Given the description of an element on the screen output the (x, y) to click on. 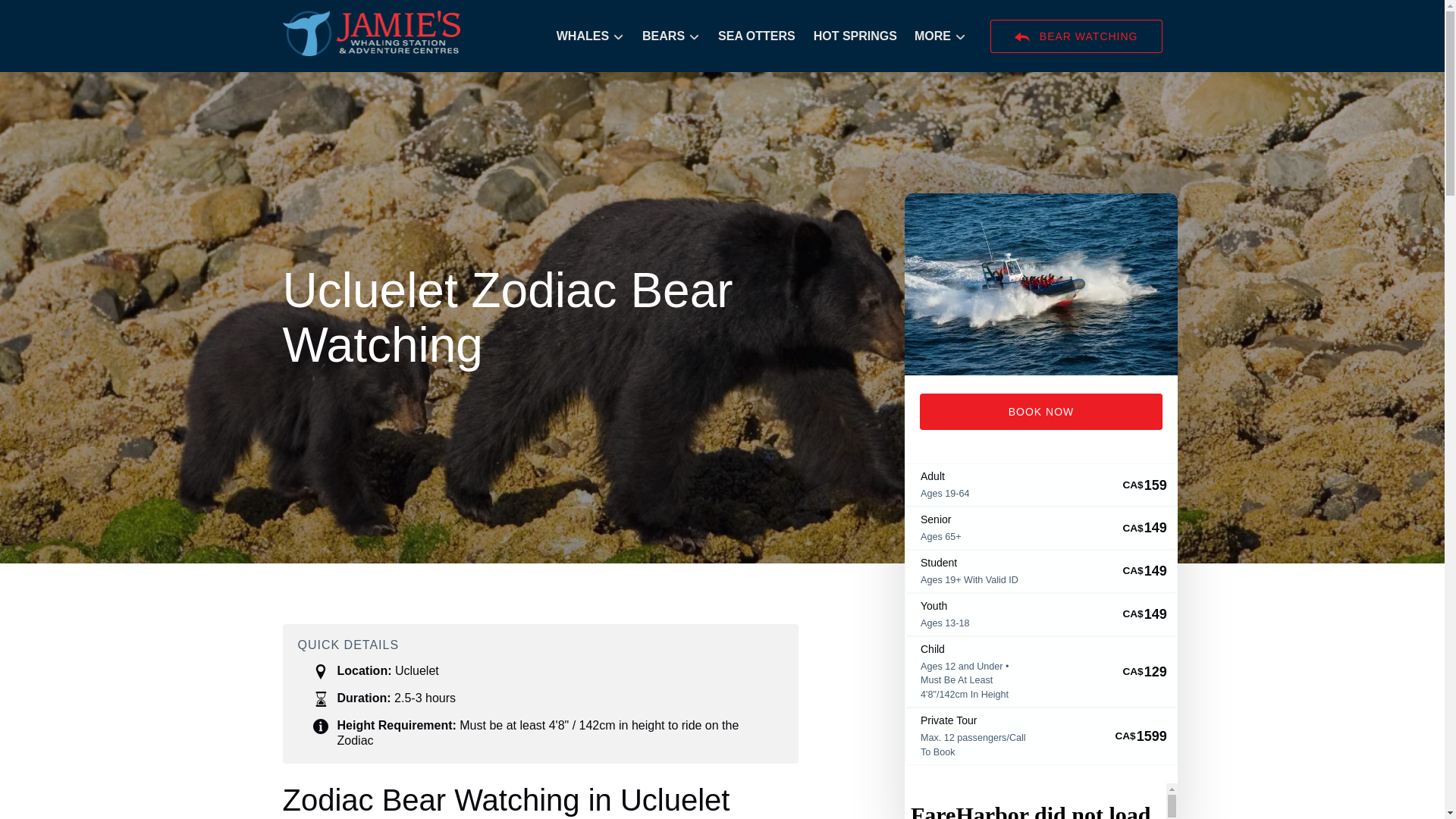
Open Whales Menu (593, 32)
SEA OTTERS (757, 35)
Open Bears Menu (674, 32)
Skip to primary navigation (77, 16)
Skip to footer (42, 16)
Skip to content (47, 16)
BOOK NOW (1039, 411)
Info (320, 726)
WHALES (590, 35)
Open More Menu (943, 32)
BACK ARROW (1021, 37)
BACK ARROW BEAR WATCHING (1075, 36)
BEARS (671, 35)
FareHarbor (1040, 800)
Hour Glass (320, 698)
